Given the description of an element on the screen output the (x, y) to click on. 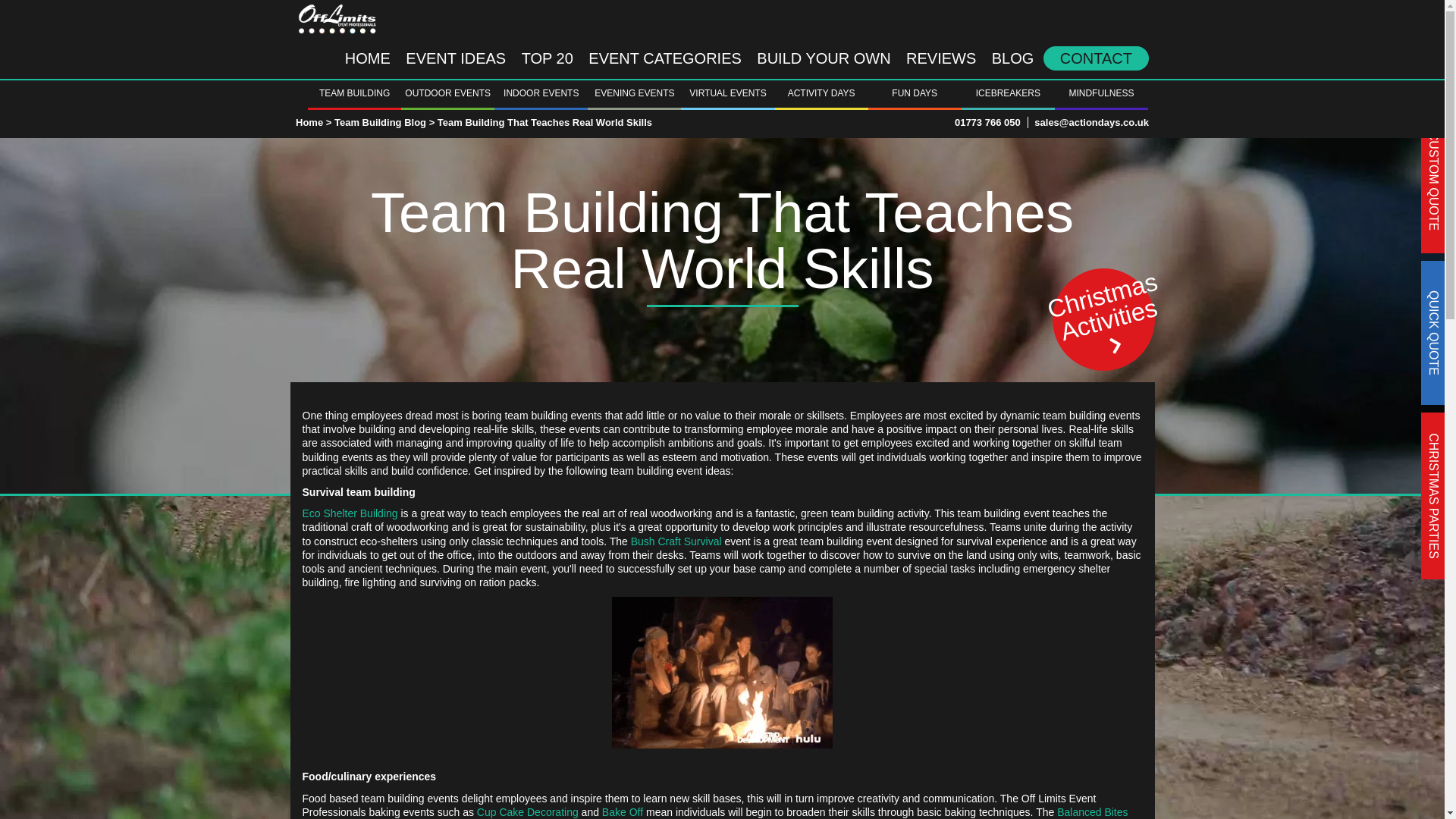
Bake Off (622, 810)
HOME (367, 57)
EVENT CATEGORIES (665, 57)
ACTIVITY DAYS (820, 93)
REVIEWS (940, 57)
FUN DAYS (913, 93)
Bush Craft Survival (676, 540)
VIRTUAL EVENTS (727, 93)
MINDFULNESS (1101, 93)
BLOG (1013, 57)
